Given the description of an element on the screen output the (x, y) to click on. 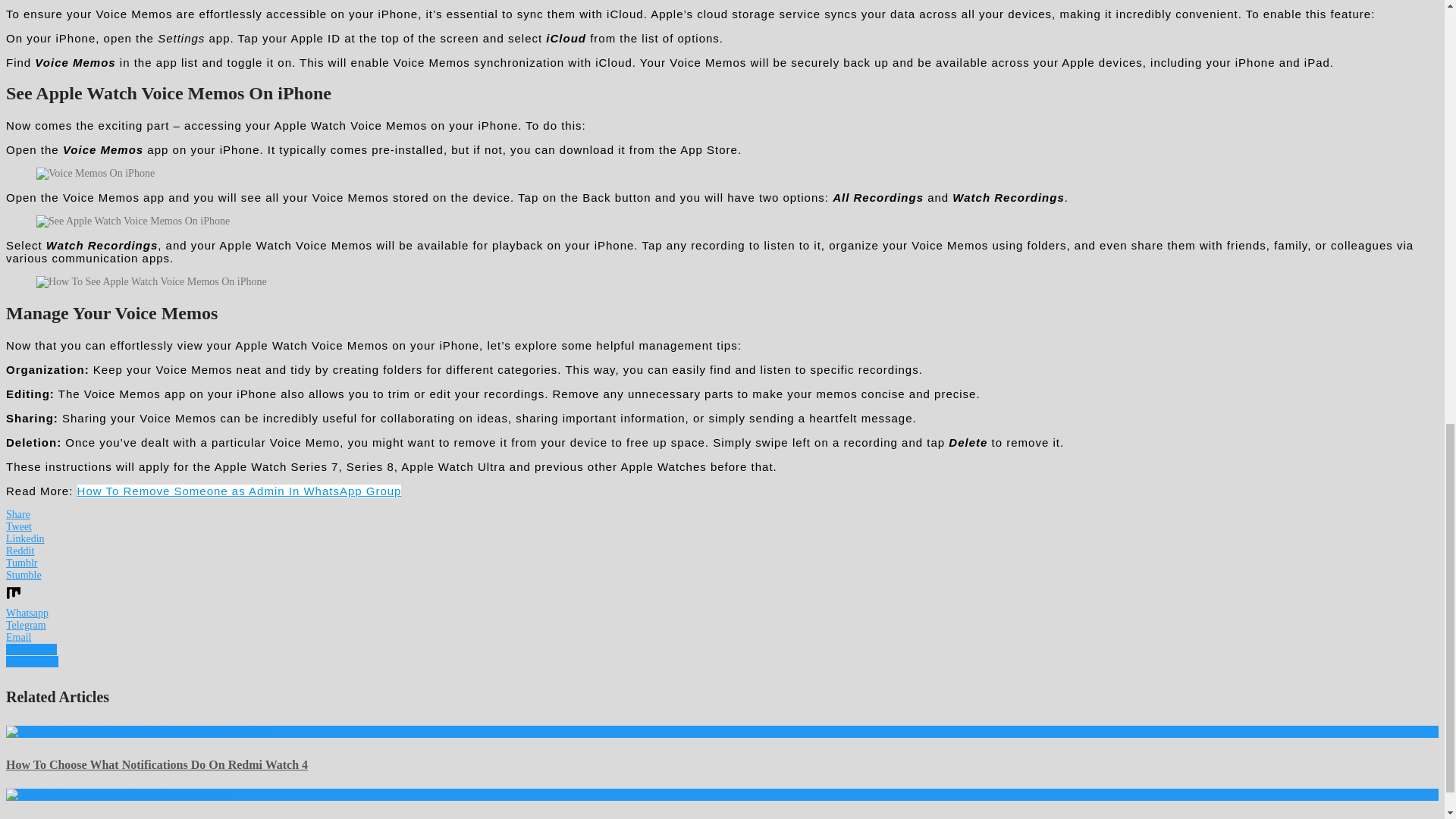
How To Choose What Notifications Do On Redmi Watch 4 (156, 764)
How To Rearrange Home Screen Pages On iPhone (119, 794)
How To Choose What Notifications Do On Redmi Watch 4 (156, 764)
Prev Article (30, 649)
Next Article (31, 661)
How To Choose What Notifications Do On Redmi Watch 4 (137, 731)
How To Remove Someone as Admin In WhatsApp Group (239, 490)
